Given the description of an element on the screen output the (x, y) to click on. 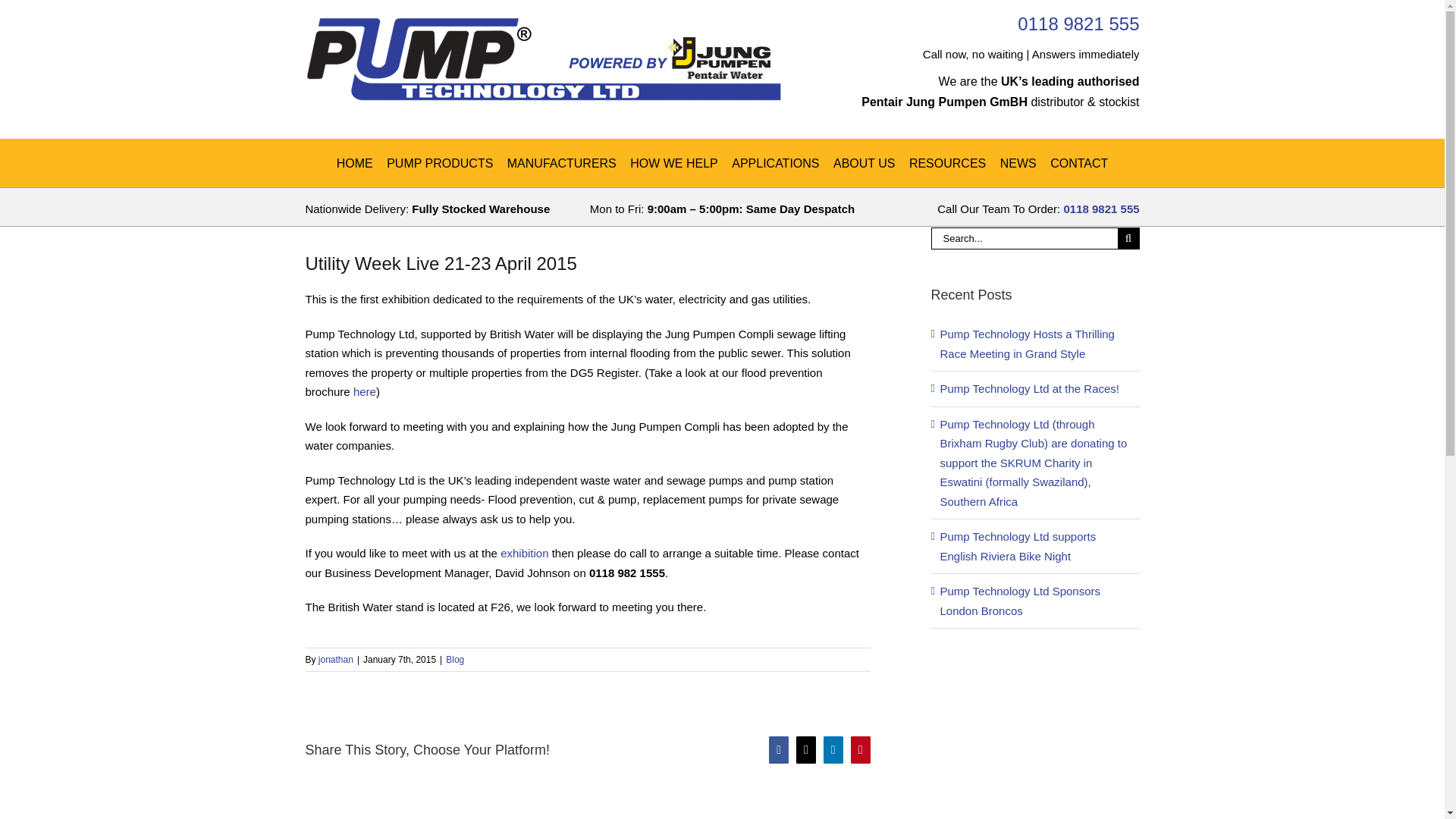
PUMP PRODUCTS (440, 163)
HOME (354, 163)
MANUFACTURERS (560, 163)
HOW WE HELP (673, 163)
ABOUT US (863, 163)
APPLICATIONS (775, 163)
Posts by jonathan (335, 659)
RESOURCES (946, 163)
